Given the description of an element on the screen output the (x, y) to click on. 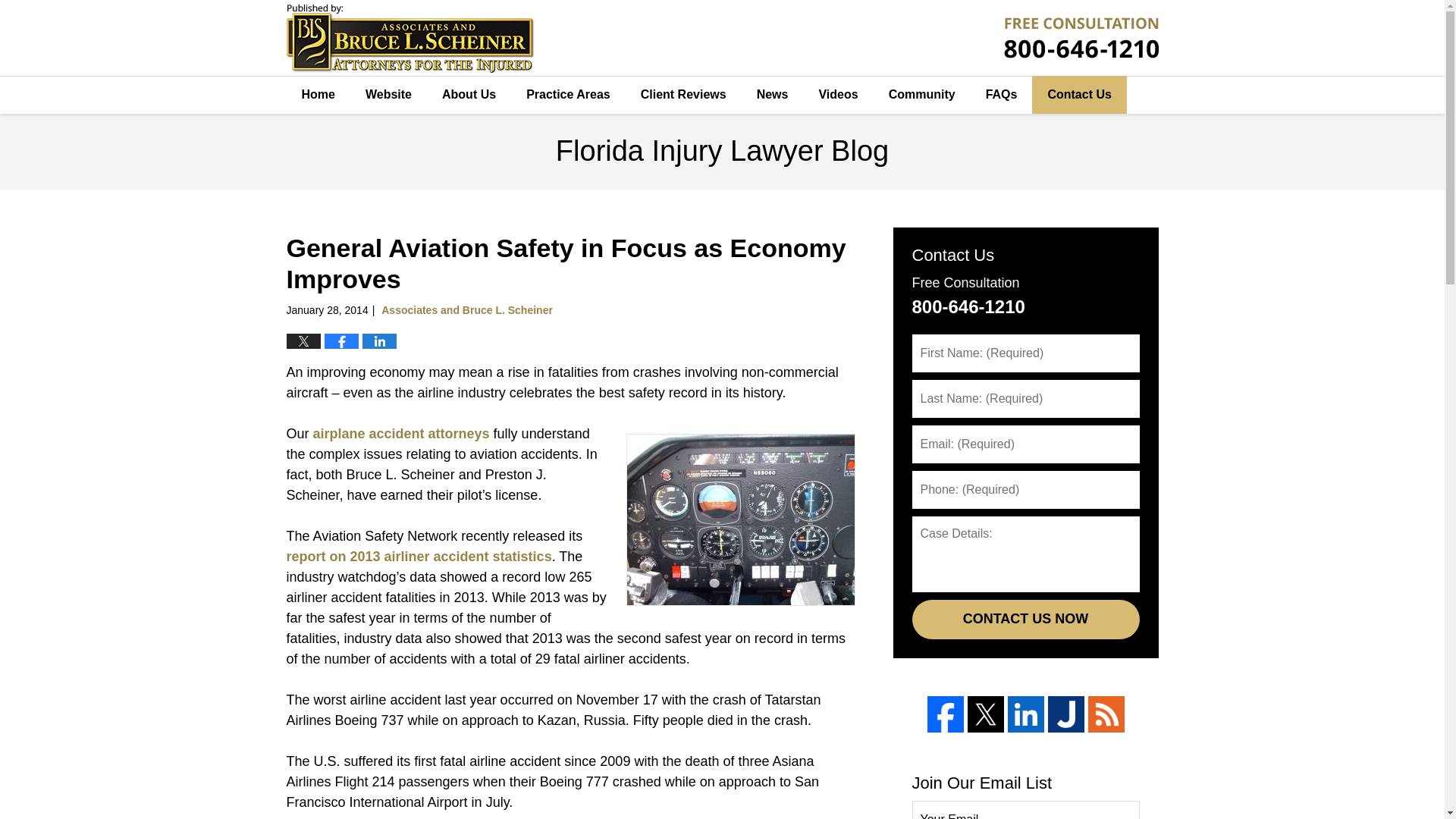
Community (922, 94)
Home (318, 94)
Practice Areas (568, 94)
airplane accident attorneys (401, 433)
Website (388, 94)
LinkedIn (1025, 714)
report on 2013 airliner accident statistics (418, 556)
Client Reviews (683, 94)
Your Email (1024, 809)
Florida Injury Lawyer Blog (410, 37)
Videos (837, 94)
Associates and Bruce L. Scheiner (467, 309)
Published By Bruce L. Scheiner (1081, 37)
Facebook (944, 714)
FAQs (1001, 94)
